Given the description of an element on the screen output the (x, y) to click on. 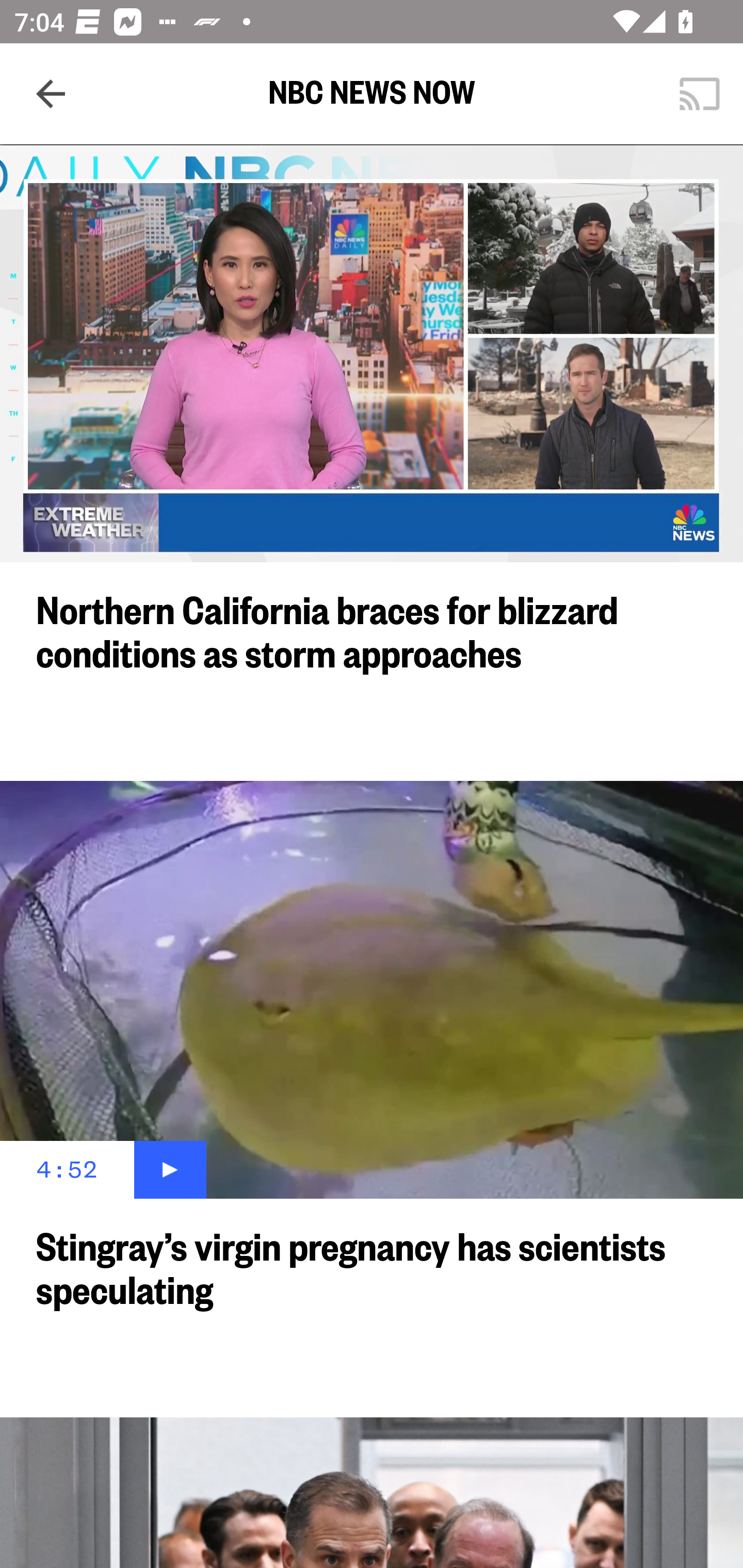
Navigate up (50, 93)
Cast. Disconnected (699, 93)
